Given the description of an element on the screen output the (x, y) to click on. 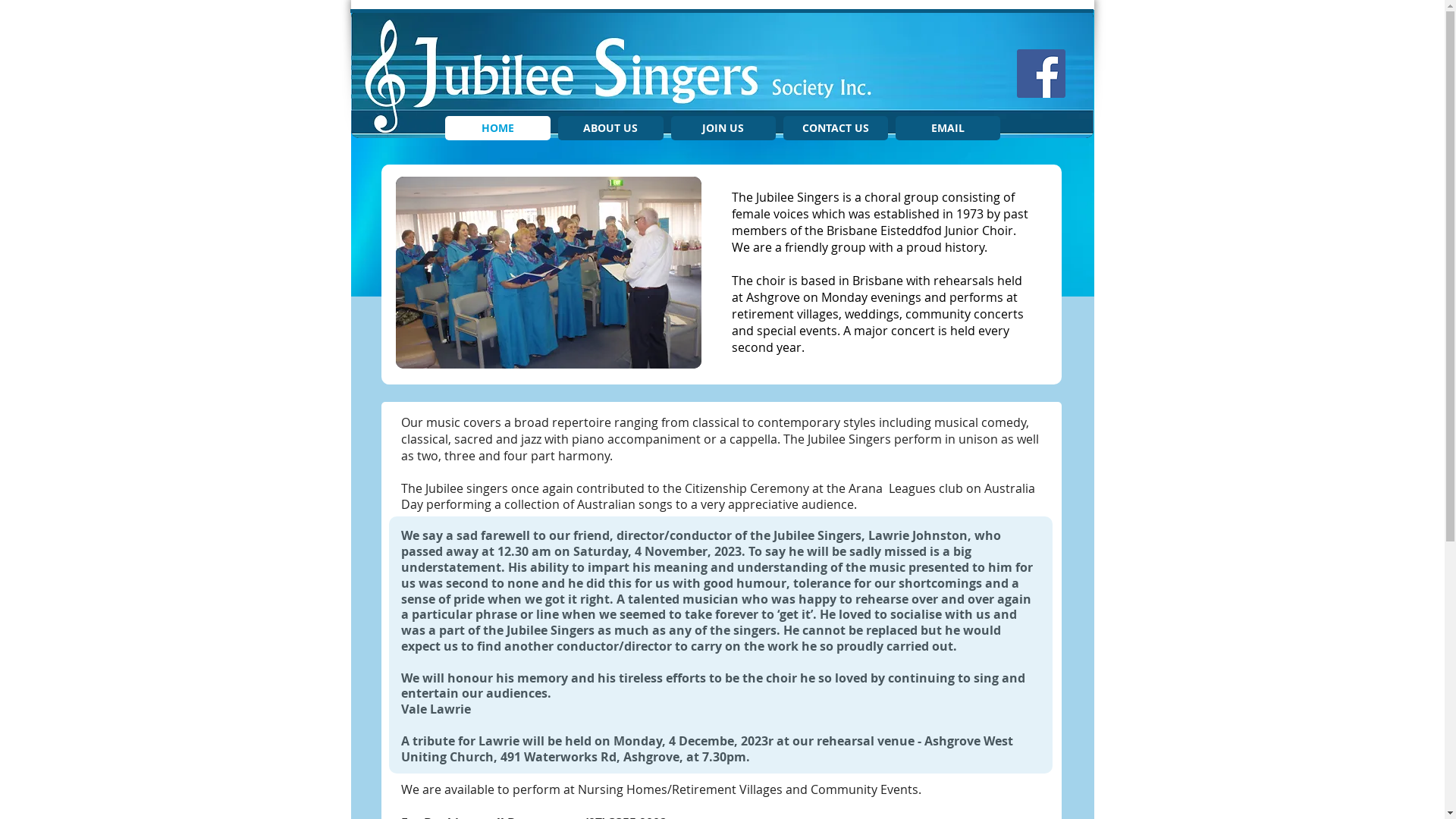
ABOUT US Element type: text (610, 128)
JOIN US Element type: text (722, 128)
EMAIL Element type: text (946, 128)
HOME Element type: text (496, 128)
CONTACT US Element type: text (834, 128)
